Given the description of an element on the screen output the (x, y) to click on. 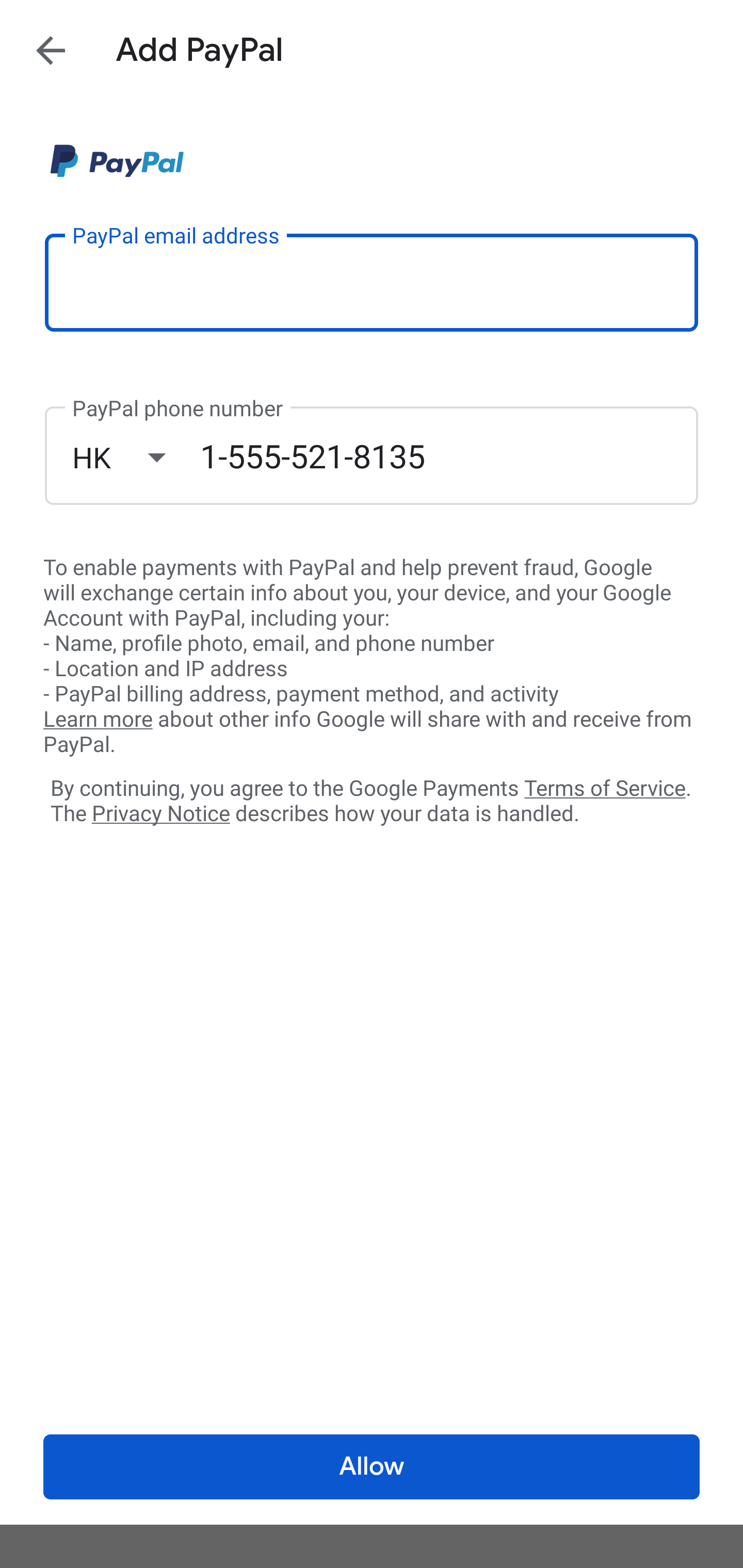
Navigate up (50, 50)
PayPal email address (371, 282)
HK (135, 456)
Learn more (97, 719)
Terms of Service (604, 787)
Privacy Notice (160, 814)
Allow (371, 1466)
